Given the description of an element on the screen output the (x, y) to click on. 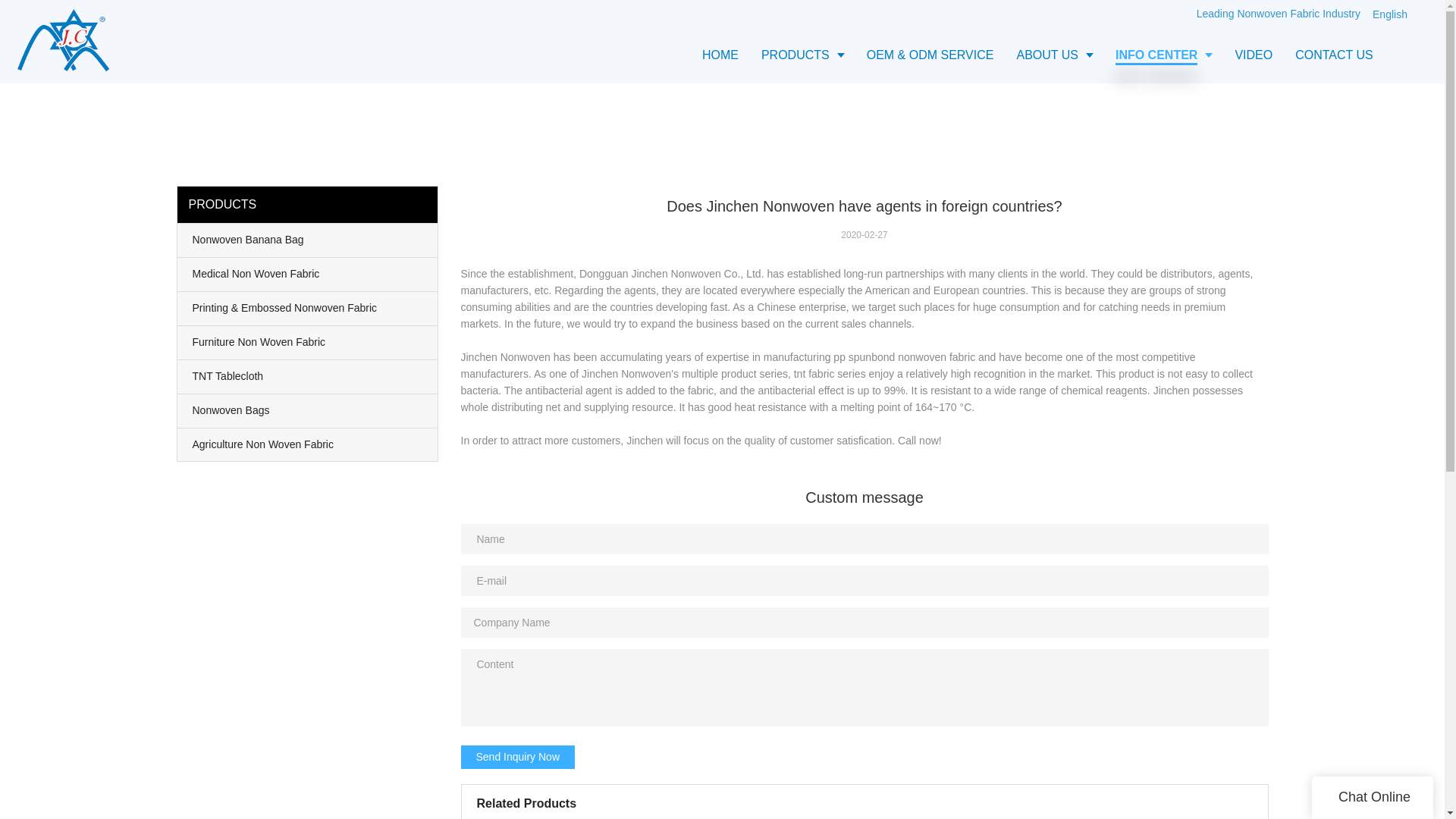
Furniture Non Woven Fabric (307, 342)
VIDEO (1253, 55)
Send Inquiry Now (518, 756)
Medical Non Woven Fabric (307, 274)
Nonwoven Bags (307, 410)
INFO CENTER (1163, 55)
CONTACT US (1334, 55)
PRODUCTS (802, 55)
ABOUT US (1053, 55)
TNT Tablecloth (307, 376)
